Given the description of an element on the screen output the (x, y) to click on. 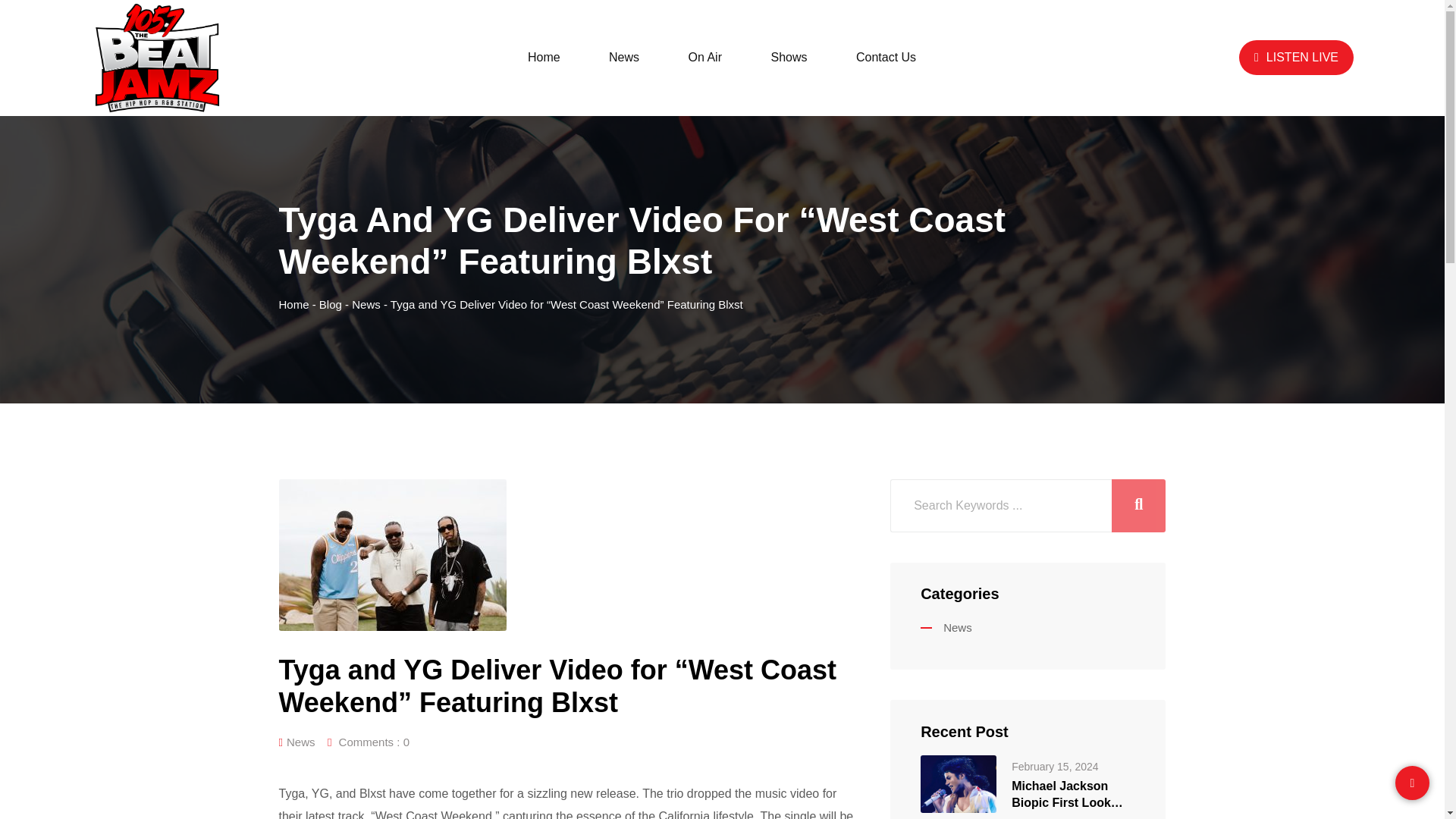
News (300, 742)
Home (544, 58)
On Air (704, 58)
News (624, 58)
Go to Blog. (330, 304)
News (366, 304)
Shows (788, 58)
Go to the News category archives. (366, 304)
LISTEN LIVE (1296, 57)
News (946, 626)
Go to 1057 The Beat Jamz. (293, 304)
Blog (330, 304)
Home (293, 304)
Contact Us (885, 58)
